Given the description of an element on the screen output the (x, y) to click on. 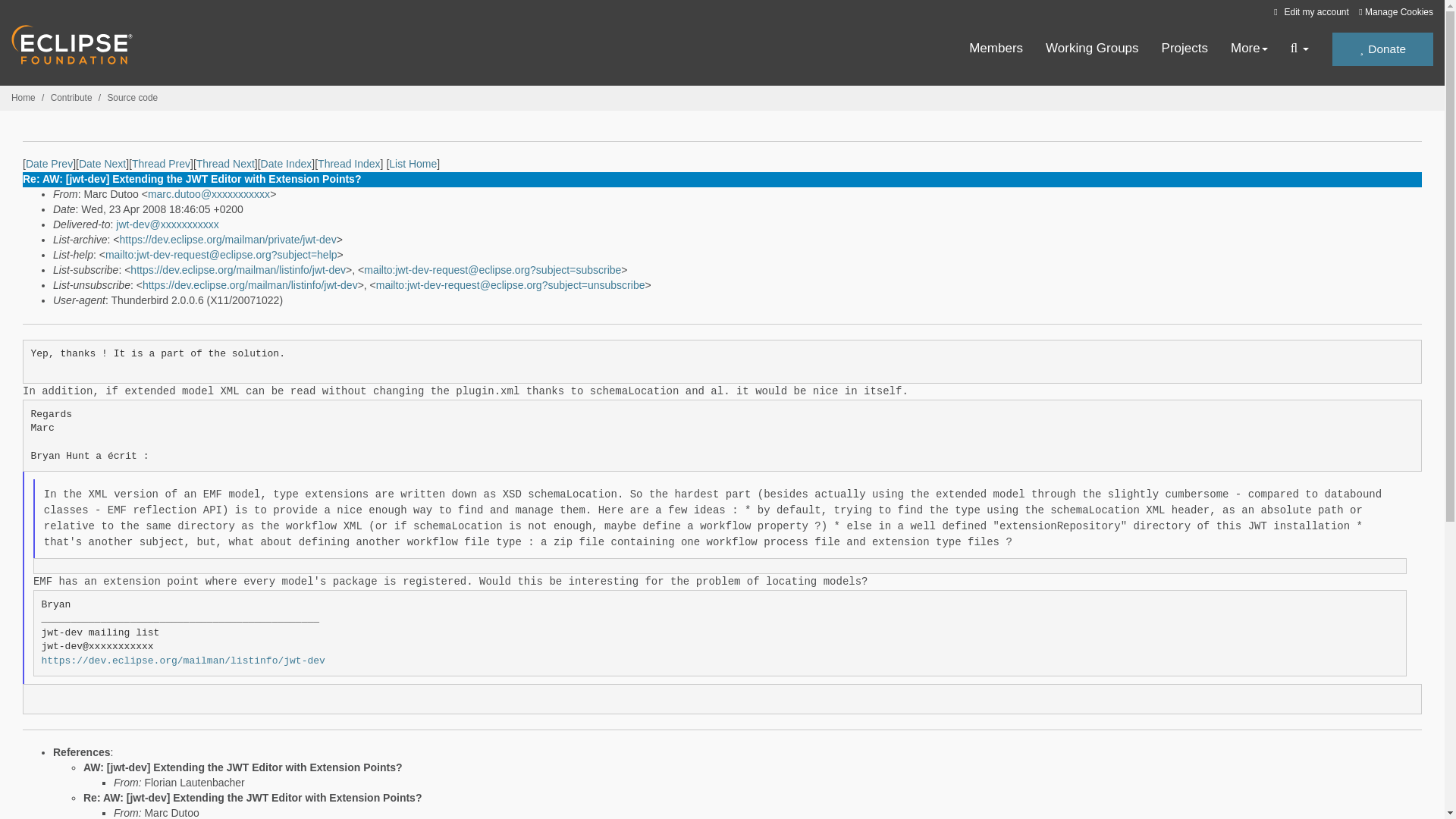
More (1249, 48)
Manage Cookies (1395, 12)
Working Groups (1091, 48)
Members (996, 48)
Donate (1382, 49)
Edit my account (1309, 11)
Projects (1184, 48)
